Given the description of an element on the screen output the (x, y) to click on. 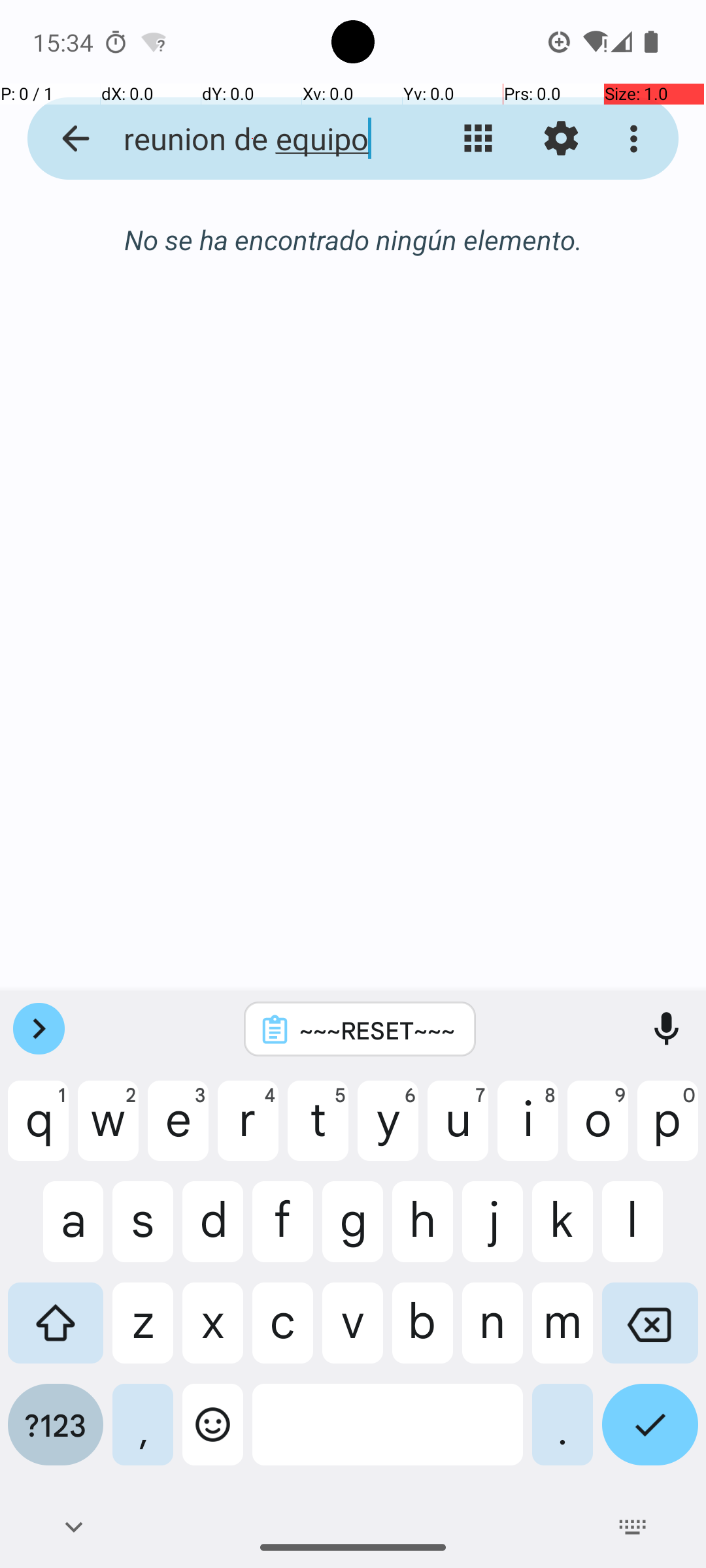
reunion de equipo Element type: android.widget.EditText (252, 138)
